Given the description of an element on the screen output the (x, y) to click on. 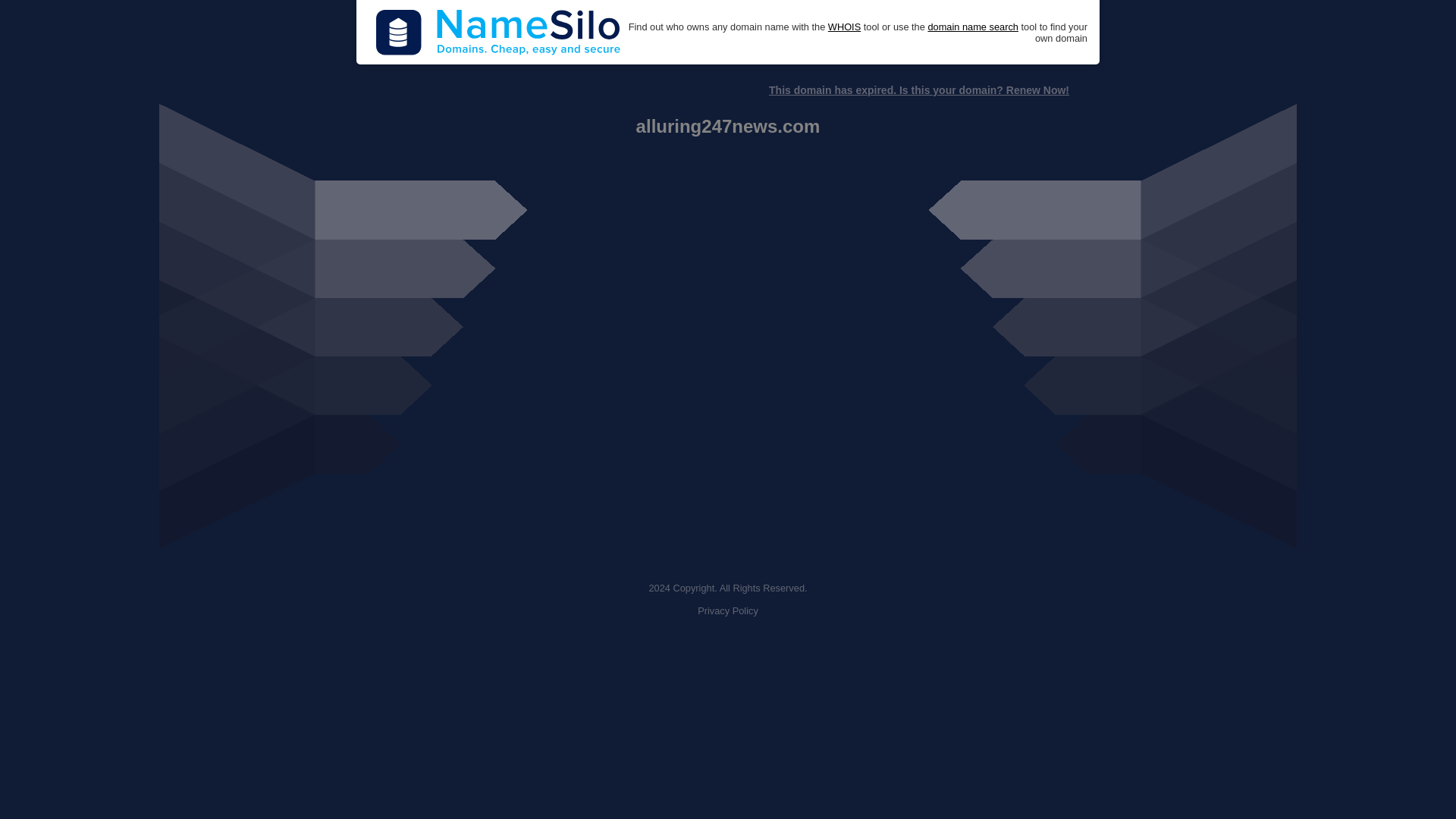
This domain has expired. Is this your domain? Renew Now! (918, 90)
domain name search (972, 26)
Privacy Policy (727, 610)
WHOIS (844, 26)
